Given the description of an element on the screen output the (x, y) to click on. 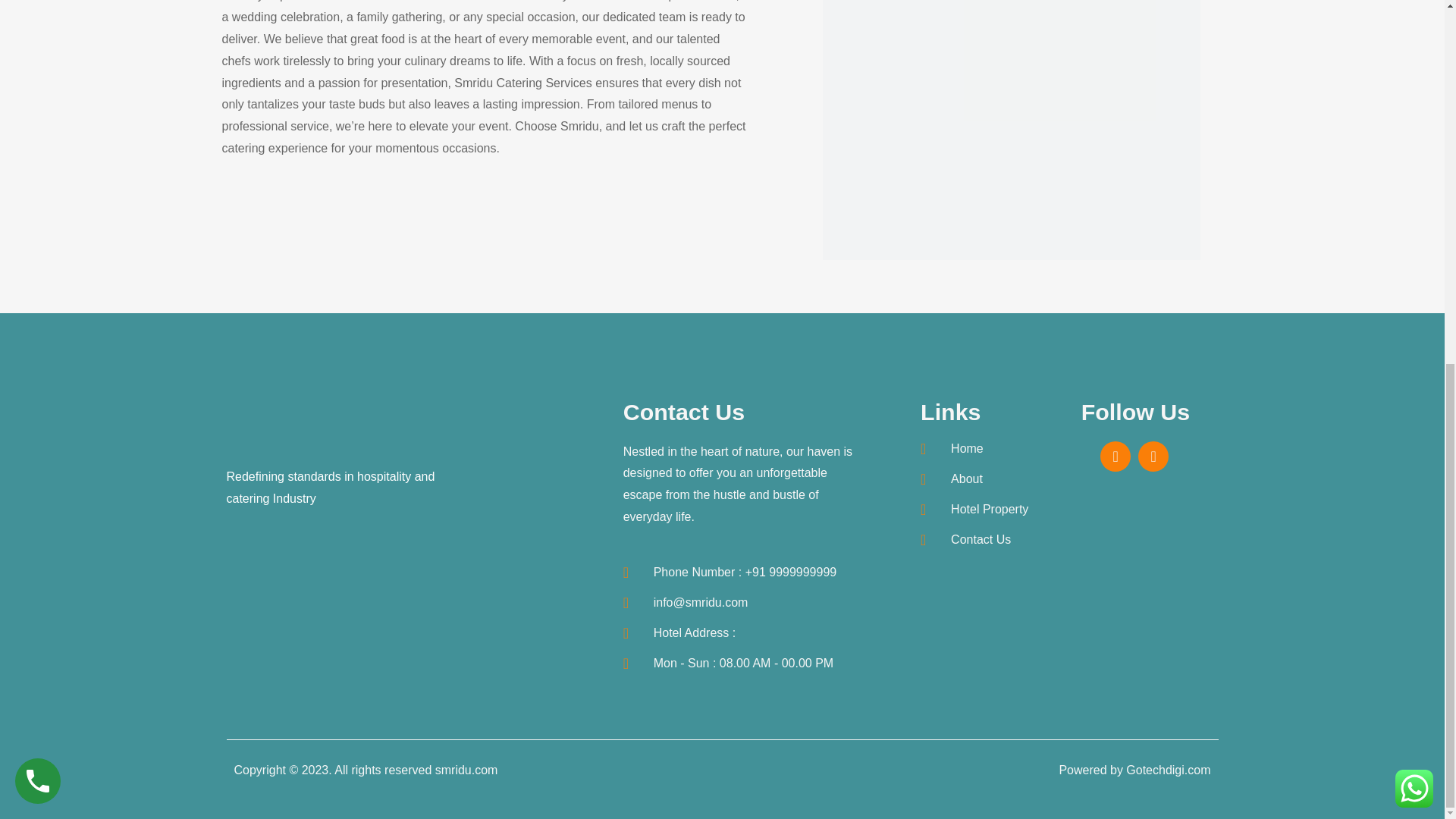
Contact Us (988, 539)
Home (988, 448)
About (988, 478)
Hotel Property (988, 509)
Mon - Sun : 08.00 AM - 00.00 PM (741, 663)
Hotel Address : (741, 632)
